Given the description of an element on the screen output the (x, y) to click on. 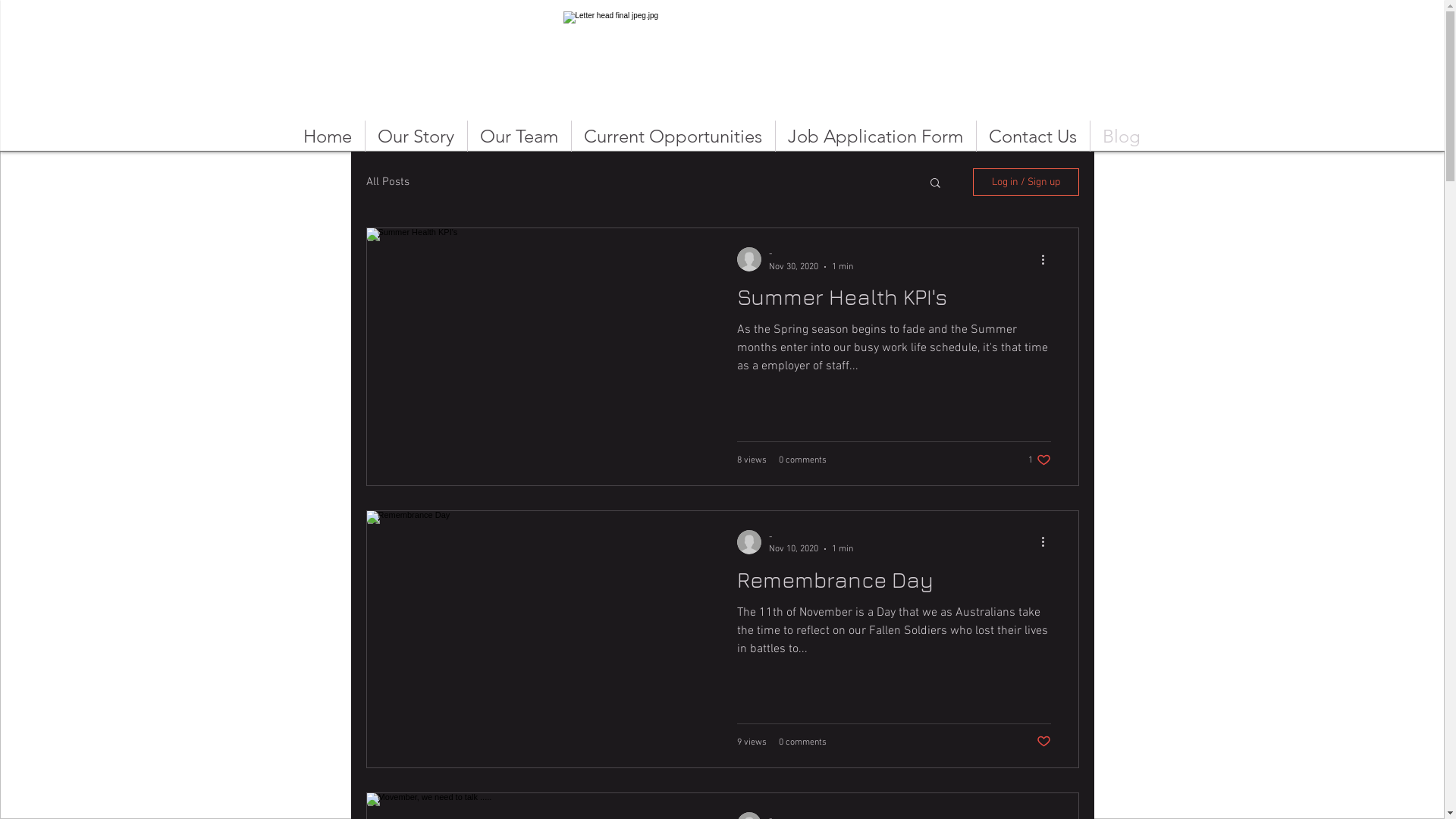
Current Opportunities Element type: text (673, 135)
1 like. Post not marked as liked
1 Element type: text (1039, 459)
Log in / Sign up Element type: text (1025, 181)
Summer Health KPI's Element type: text (894, 300)
All Posts Element type: text (386, 181)
Post not marked as liked Element type: text (1042, 742)
Our Team Element type: text (518, 135)
Home Element type: text (326, 135)
0 comments Element type: text (801, 460)
Remembrance Day Element type: text (894, 583)
Contact Us Element type: text (1032, 135)
0 comments Element type: text (801, 742)
Job Application Form Element type: text (875, 135)
Our Story Element type: text (416, 135)
Blog Element type: text (1121, 135)
